Given the description of an element on the screen output the (x, y) to click on. 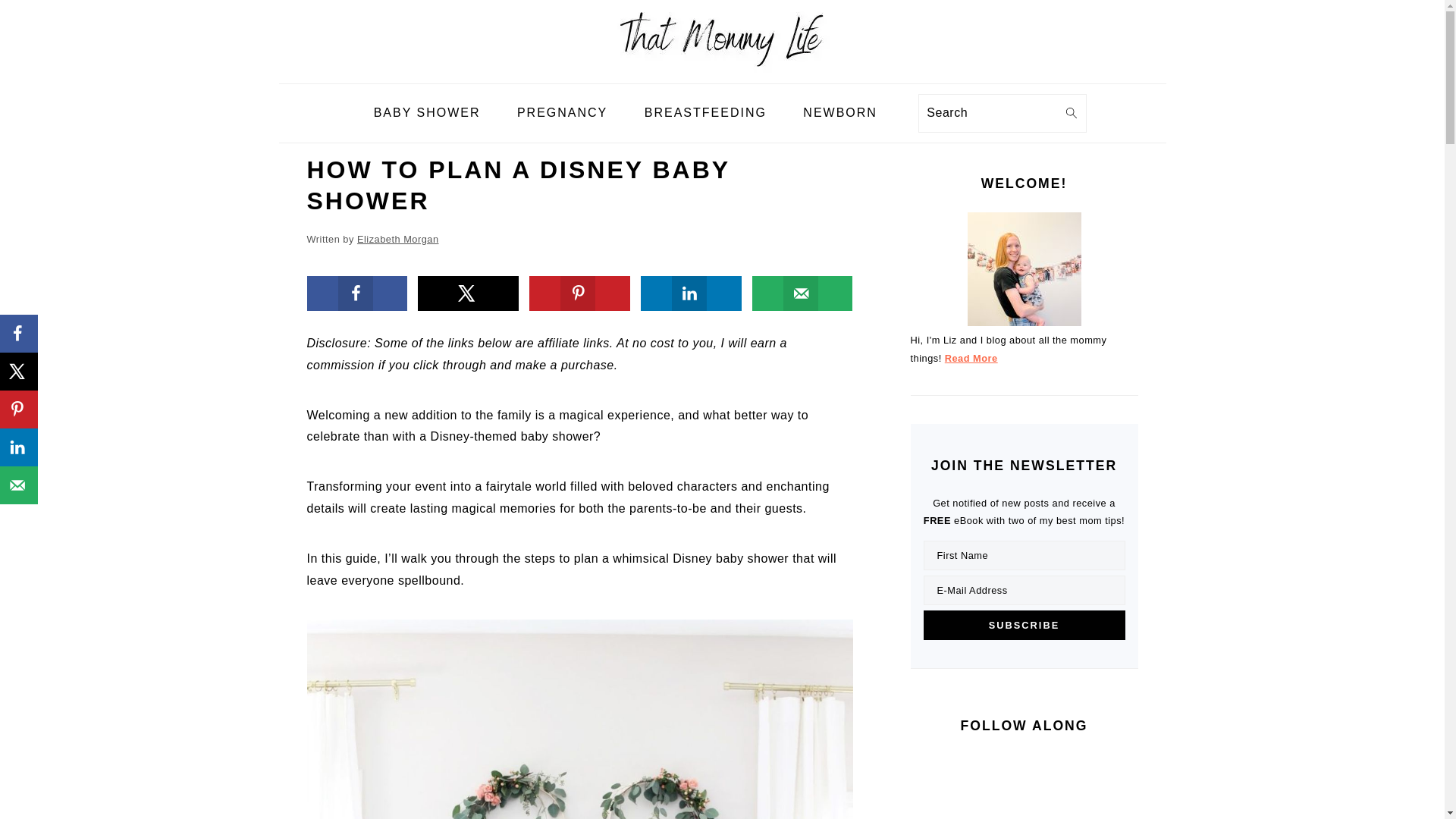
Share on LinkedIn (690, 293)
BREASTFEEDING (705, 113)
Save to Pinterest (18, 409)
Read More (970, 357)
Save to Pinterest (578, 293)
Share on X (467, 293)
That Mommy Life (721, 71)
BABY SHOWER (427, 113)
NEWBORN (840, 113)
